Given the description of an element on the screen output the (x, y) to click on. 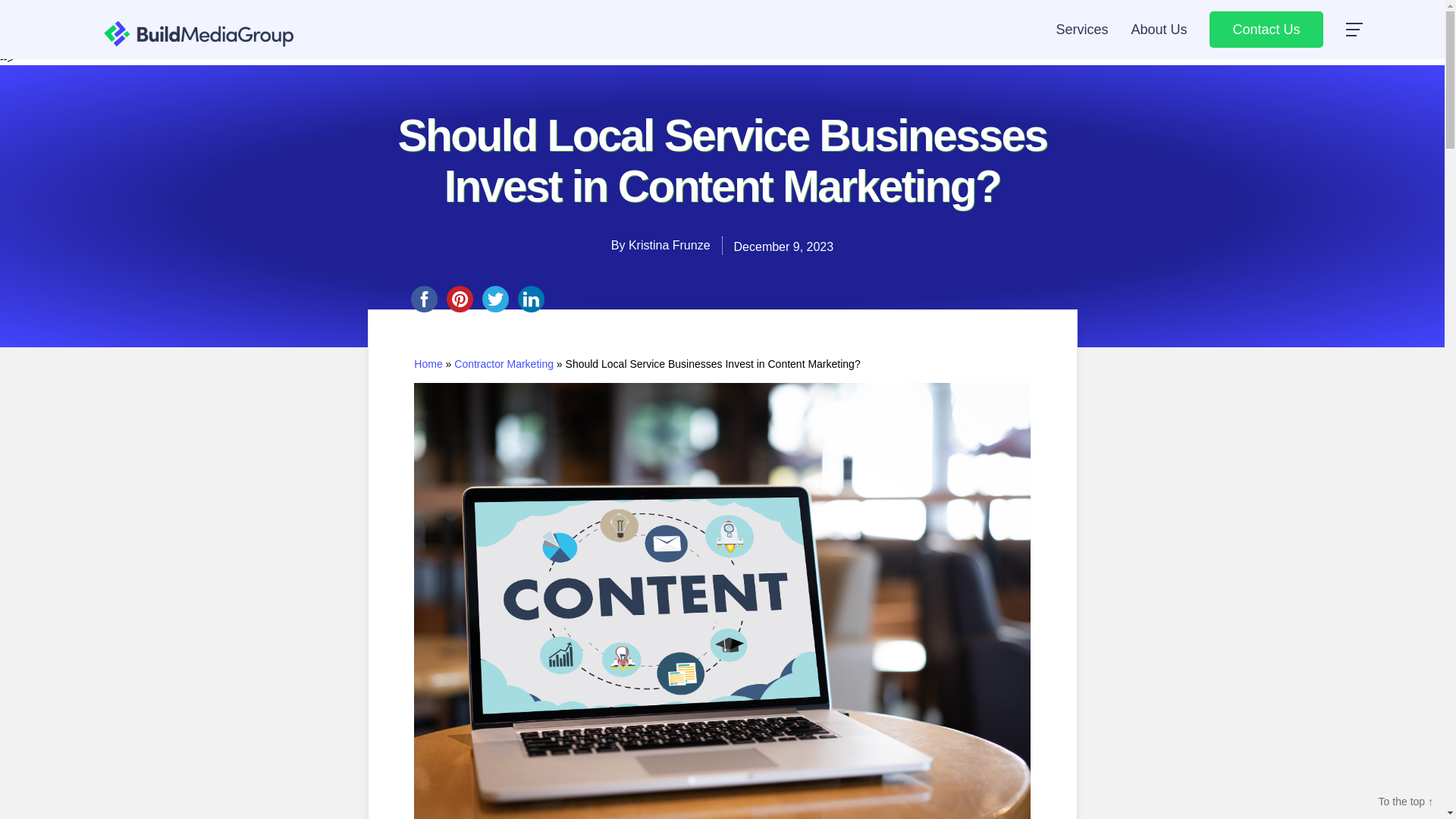
twitter (495, 298)
pinterest (459, 298)
facebook (424, 298)
Kristina Frunze (669, 245)
linkedin (530, 298)
Services (1081, 29)
Contact Us (1265, 29)
About Us (1158, 29)
